Given the description of an element on the screen output the (x, y) to click on. 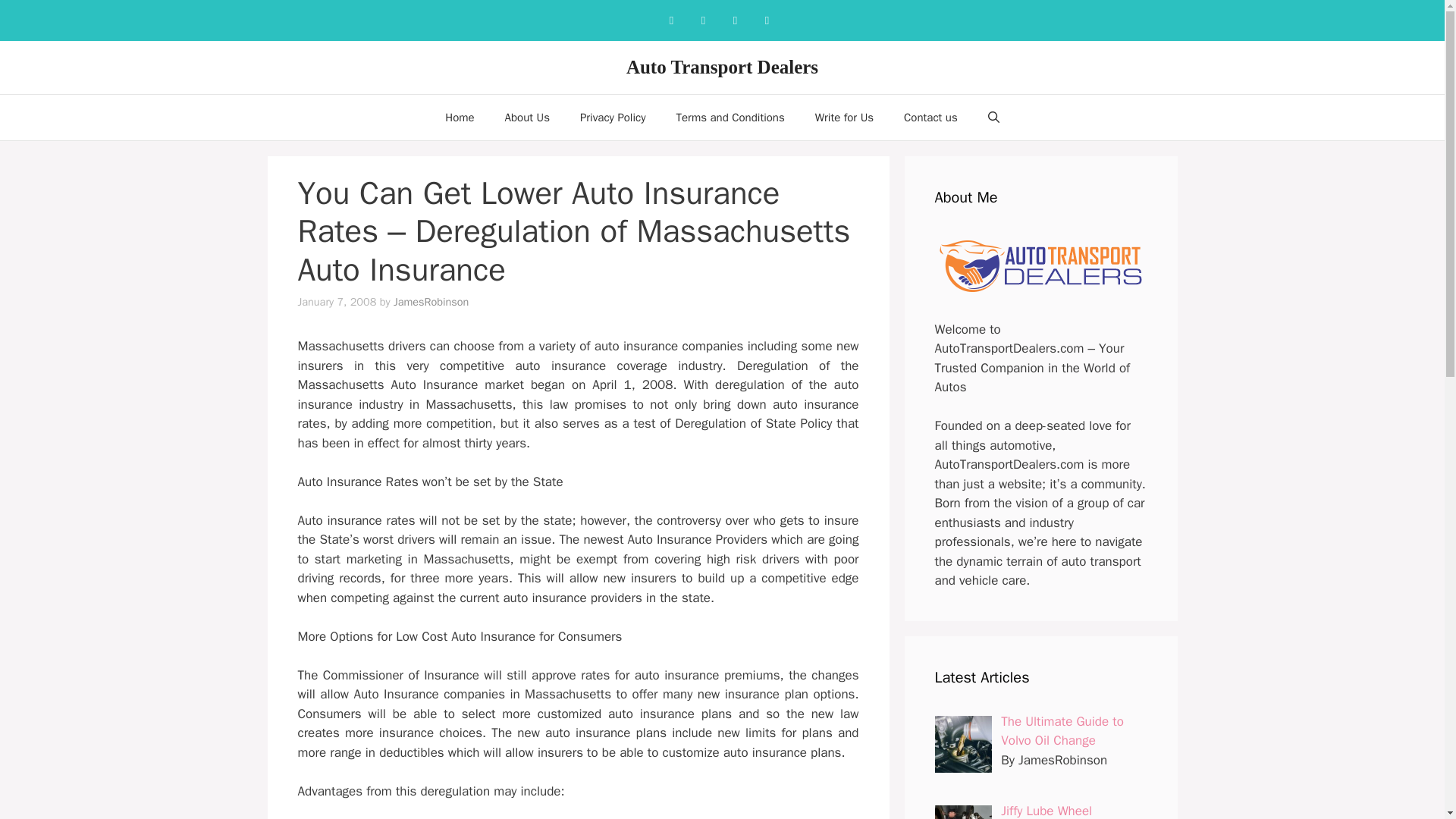
Terms and Conditions (730, 117)
About Us (526, 117)
JamesRobinson (430, 301)
Home (459, 117)
Auto Transport Dealers (722, 66)
Twitter (766, 20)
The Ultimate Guide to Volvo Oil Change (1062, 730)
Privacy Policy (612, 117)
View all posts by JamesRobinson (430, 301)
Jiffy Lube Wheel Alignment: Ensuring a Smooth and Safe Ride (1063, 811)
Pinterest (735, 20)
Instagram (703, 20)
Contact us (930, 117)
Facebook (671, 20)
Write for Us (843, 117)
